Given the description of an element on the screen output the (x, y) to click on. 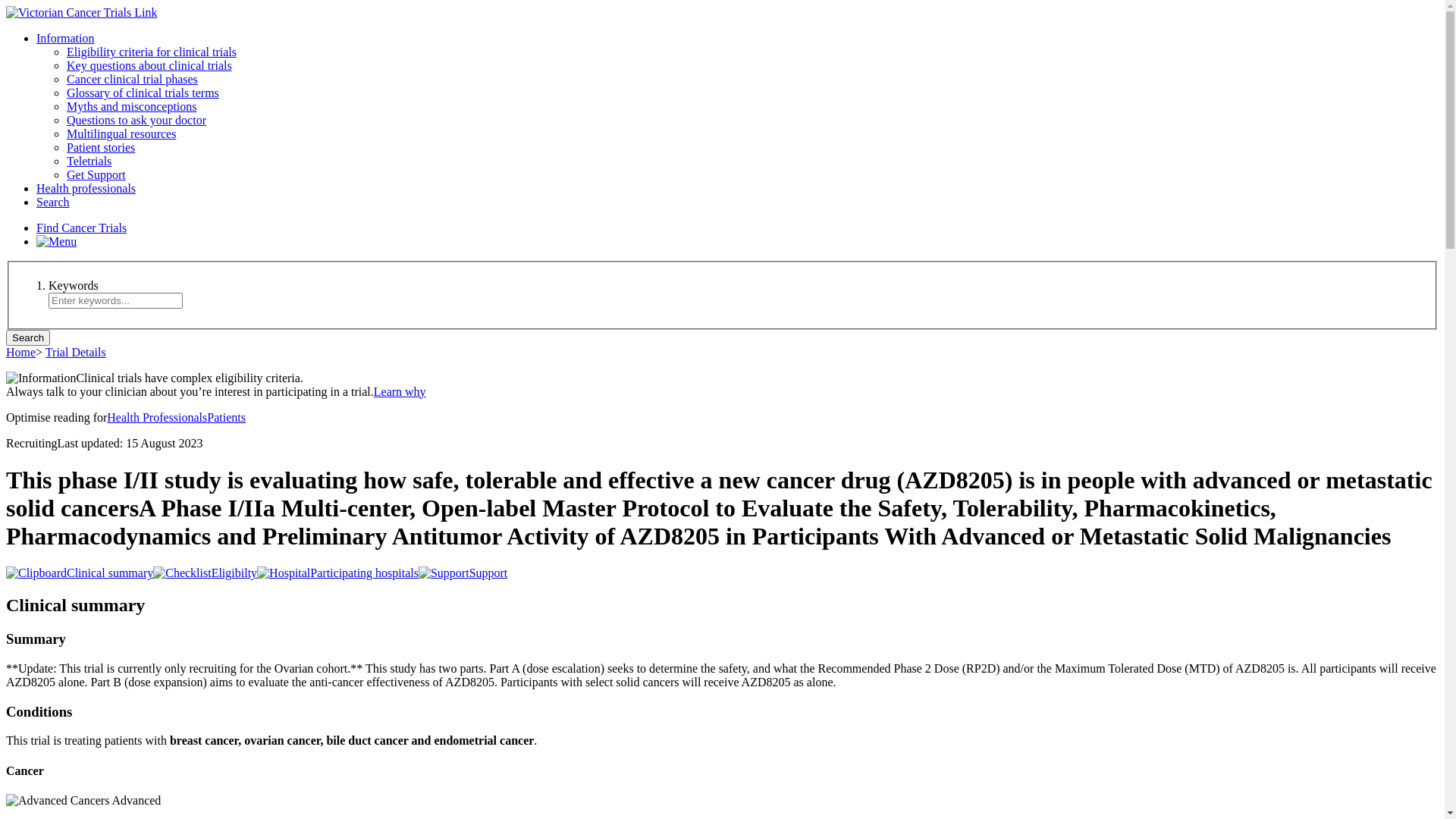
Clinical summary Element type: text (79, 572)
Search Element type: text (52, 201)
Health Professionals Element type: text (156, 417)
Myths and misconceptions Element type: text (131, 106)
Cancer clinical trial phases Element type: text (131, 78)
Home Element type: text (20, 351)
Eligibility criteria for clinical trials Element type: text (151, 51)
Find Cancer Trials Element type: text (81, 227)
Glossary of clinical trials terms Element type: text (142, 92)
Support Element type: text (462, 572)
Key questions about clinical trials Element type: text (149, 65)
Participating hospitals Element type: text (337, 572)
Trial Details Element type: text (75, 351)
Teletrials Element type: text (88, 160)
Patient stories Element type: text (100, 147)
Information Element type: text (65, 37)
Multilingual resources Element type: text (120, 133)
Get Support Element type: text (95, 174)
Learn why Element type: text (399, 391)
Health professionals Element type: text (85, 188)
Patients Element type: text (226, 417)
Eligibilty Element type: text (205, 572)
Questions to ask your doctor Element type: text (136, 119)
